Given the description of an element on the screen output the (x, y) to click on. 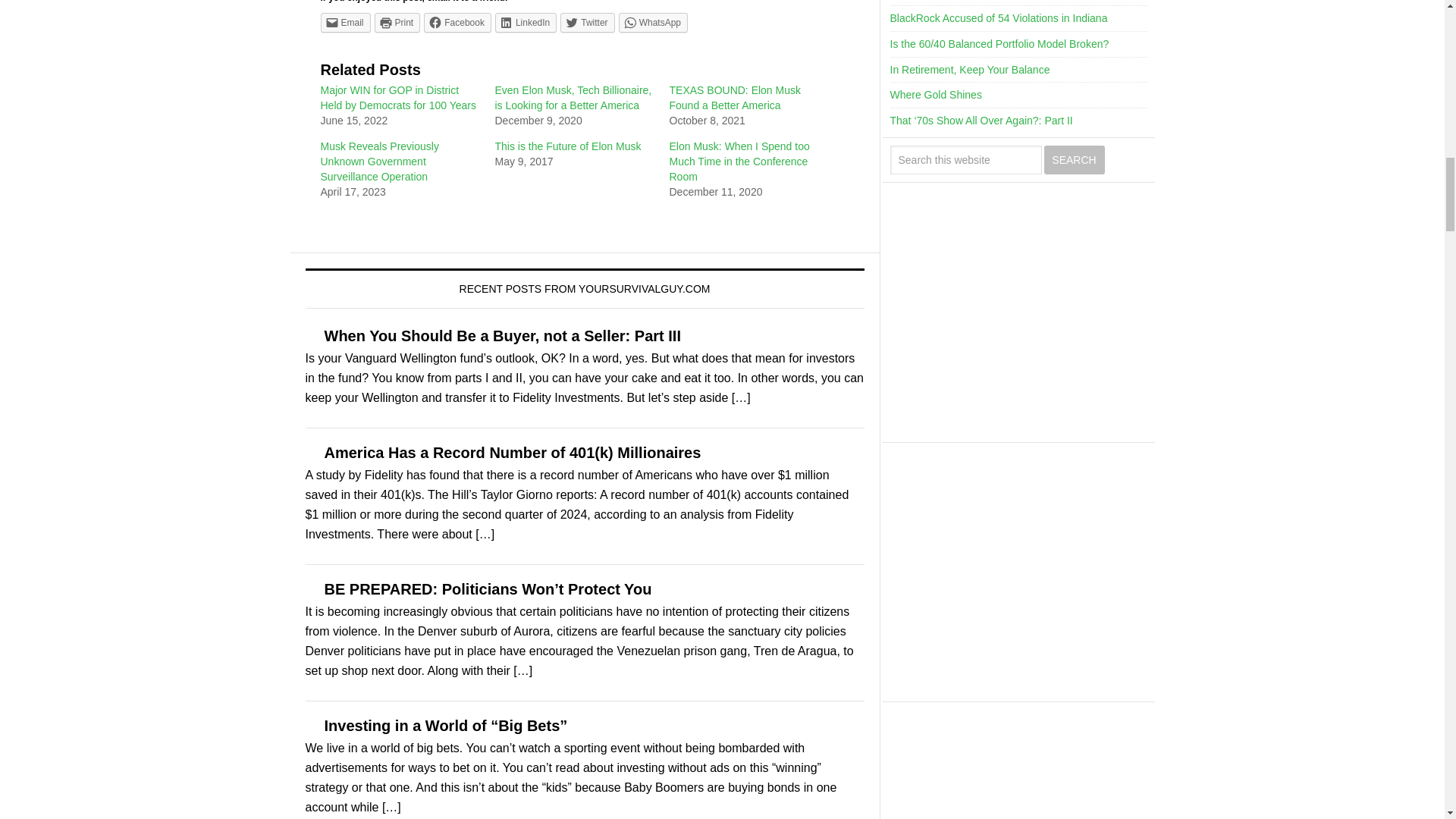
Click to share on WhatsApp (652, 22)
Click to share on Twitter (587, 22)
Click to print (397, 22)
Click to share on Facebook (457, 22)
Search (1073, 159)
Click to share on LinkedIn (525, 22)
TEXAS BOUND: Elon Musk Found a Better America (734, 97)
